Given the description of an element on the screen output the (x, y) to click on. 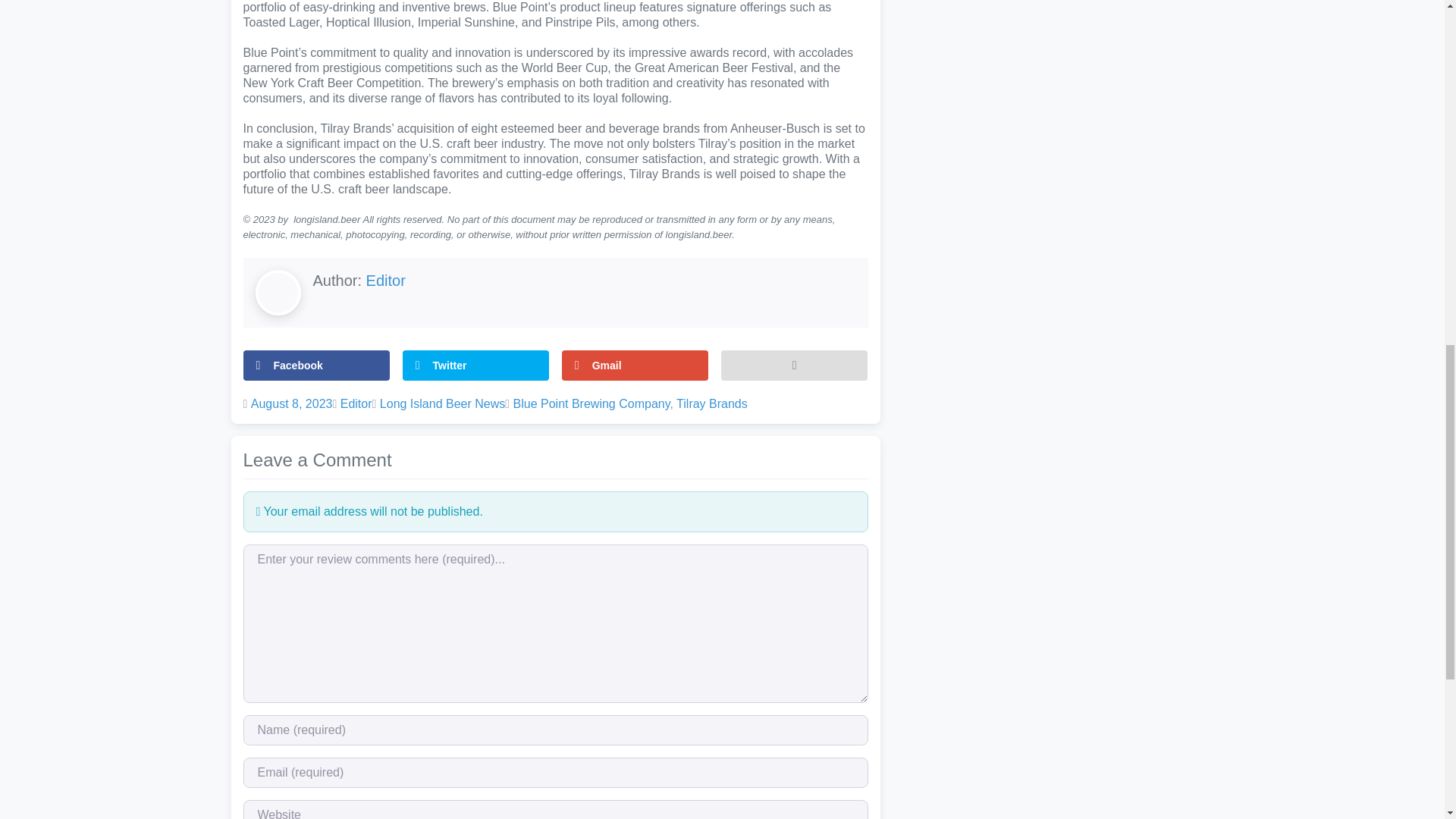
Long Island Beer News (442, 403)
Blue Point Brewing Company (591, 403)
Editor (386, 280)
Facebook (316, 365)
Twitter (476, 365)
Gmail (635, 365)
August 8, 2023 (291, 403)
Tilray Brands (712, 403)
Editor (356, 403)
